Given the description of an element on the screen output the (x, y) to click on. 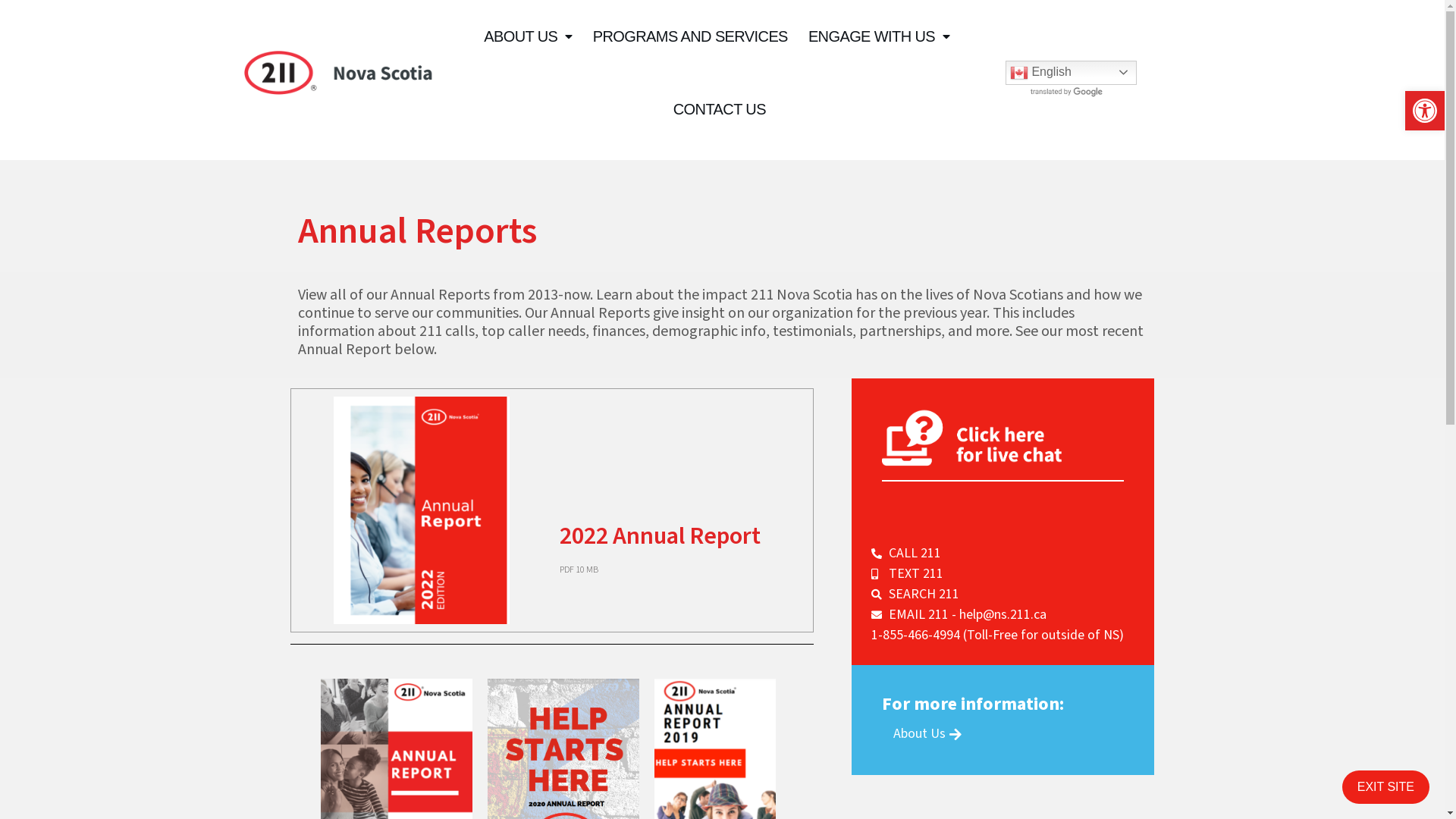
CALL 211 Element type: text (1002, 552)
PROGRAMS AND SERVICES Element type: text (690, 36)
ABOUT US Element type: text (527, 36)
SEARCH 211 Element type: text (1002, 593)
TEXT 211 Element type: text (1002, 573)
2022 Annual Report Element type: text (659, 601)
EMAIL 211 - help@ns.211.ca Element type: text (1002, 614)
About Us Element type: text (927, 734)
Open toolbar
Accessibility Tools Element type: text (1424, 110)
ENGAGE WITH US Element type: text (878, 36)
English Element type: text (1070, 72)
CONTACT US Element type: text (719, 108)
